Given the description of an element on the screen output the (x, y) to click on. 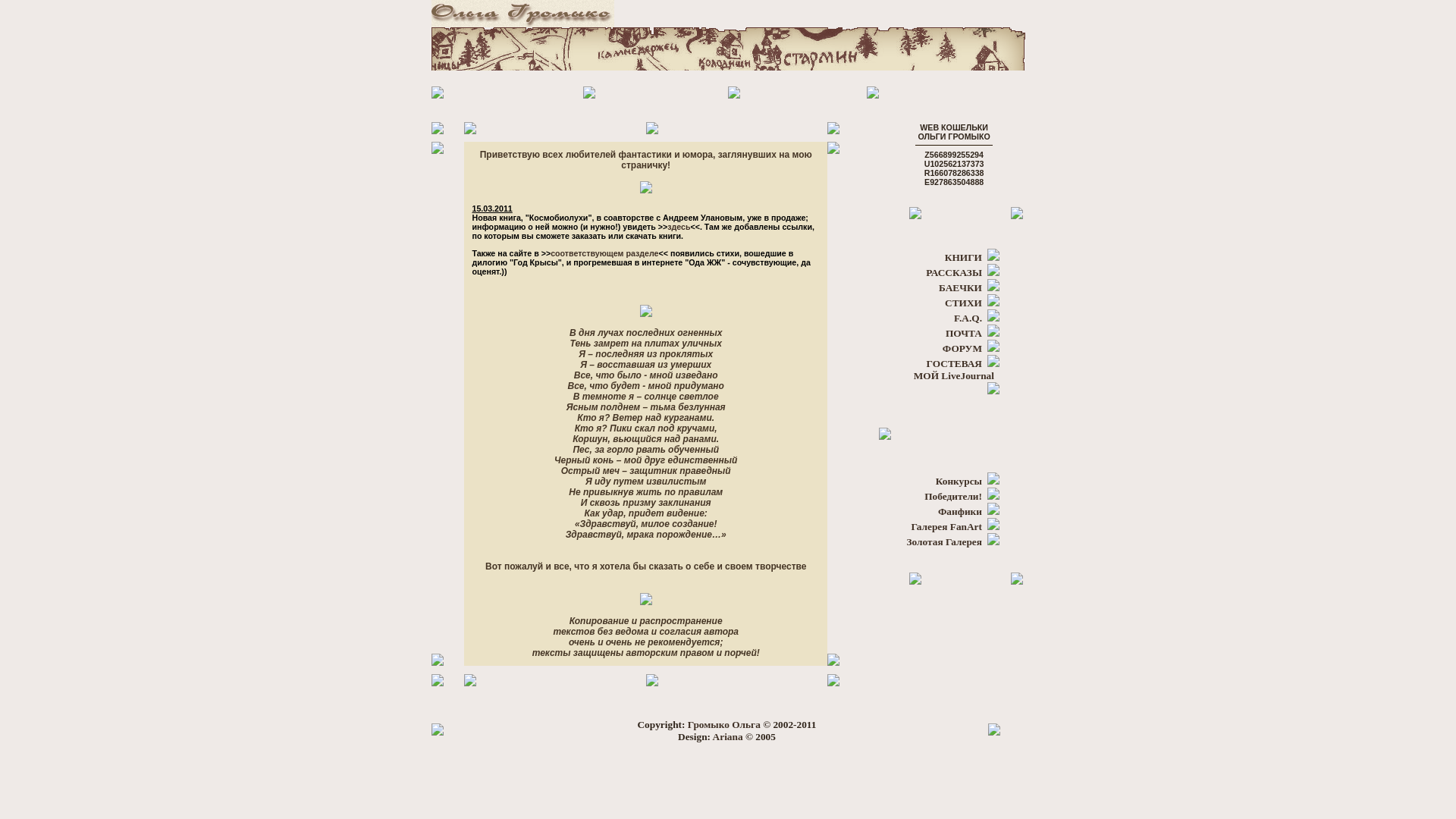
F.A.Q. Element type: text (967, 317)
Ariana Element type: text (727, 736)
